Given the description of an element on the screen output the (x, y) to click on. 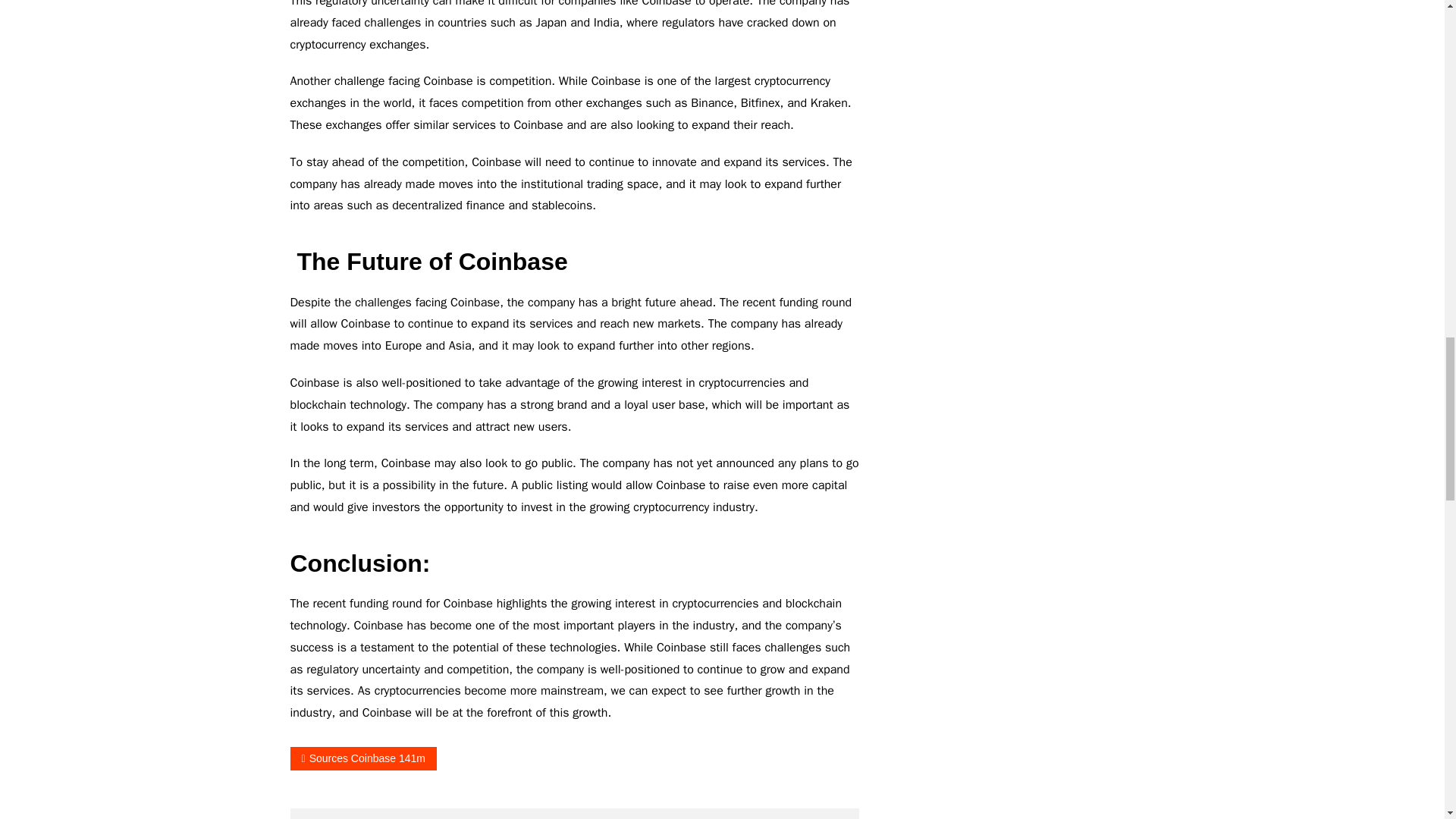
Sources Coinbase 141m (362, 758)
